Given the description of an element on the screen output the (x, y) to click on. 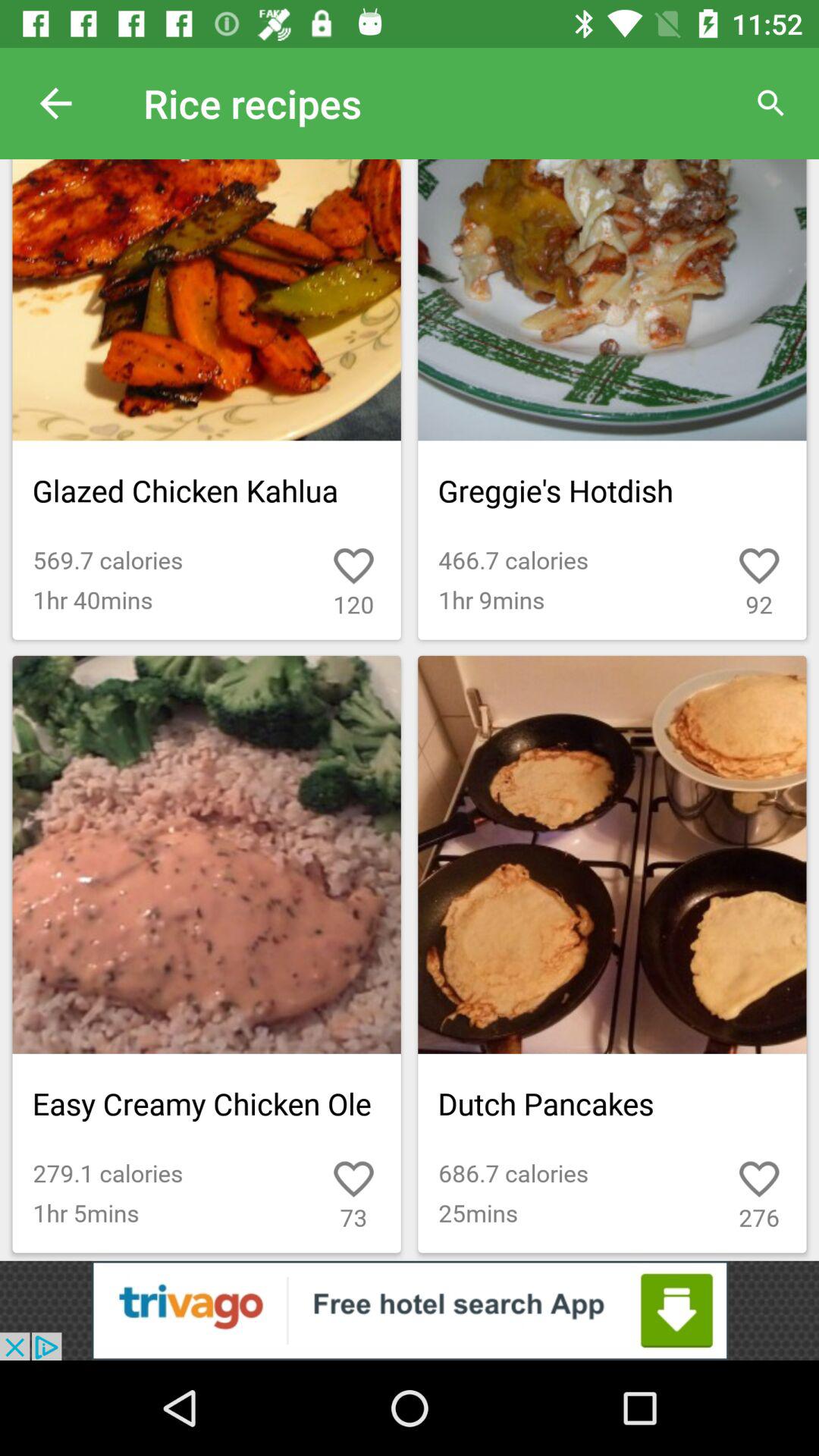
select the top right side dish greggies hotdish (611, 399)
select the top right side dish greggies hotdish (611, 299)
click on the text which is above the 6867 calories (612, 1103)
click on the first image of the page (207, 399)
click on the last image of the page (611, 954)
